Given the description of an element on the screen output the (x, y) to click on. 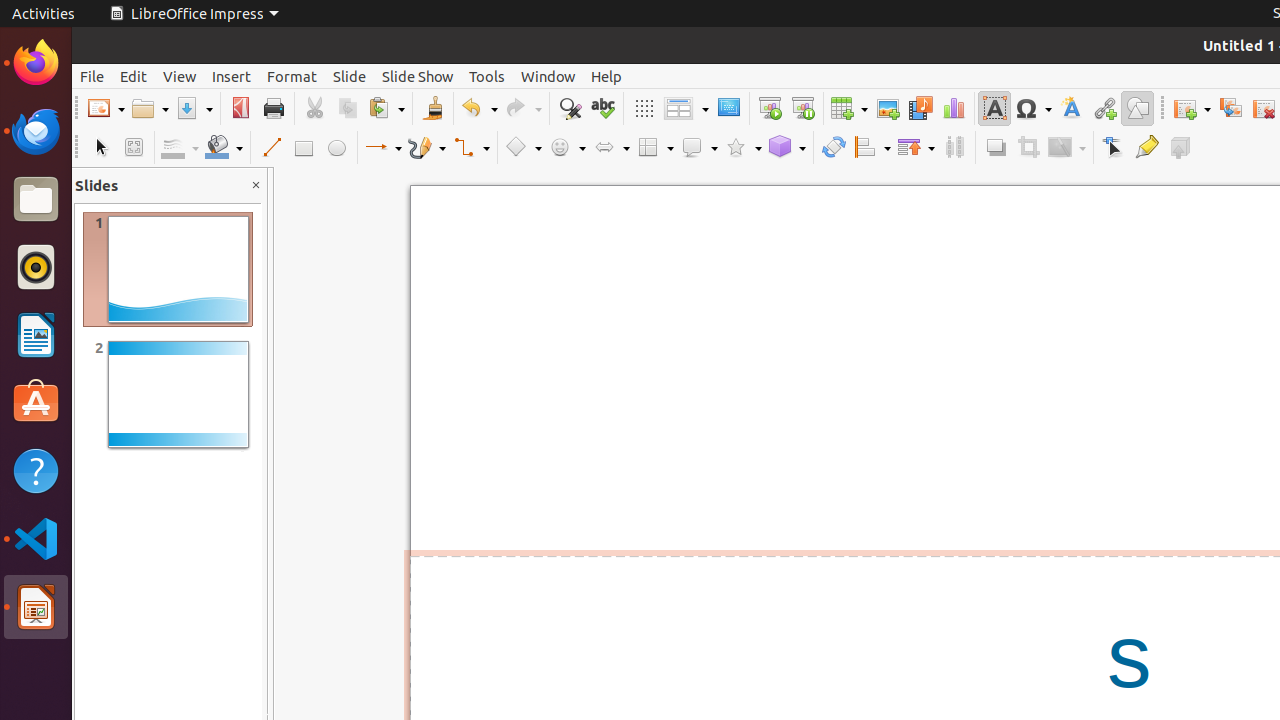
Grid Element type: toggle-button (643, 108)
Thunderbird Mail Element type: push-button (36, 131)
Chart Element type: push-button (953, 108)
Display Views Element type: push-button (686, 109)
Tools Element type: menu (487, 76)
